Given the description of an element on the screen output the (x, y) to click on. 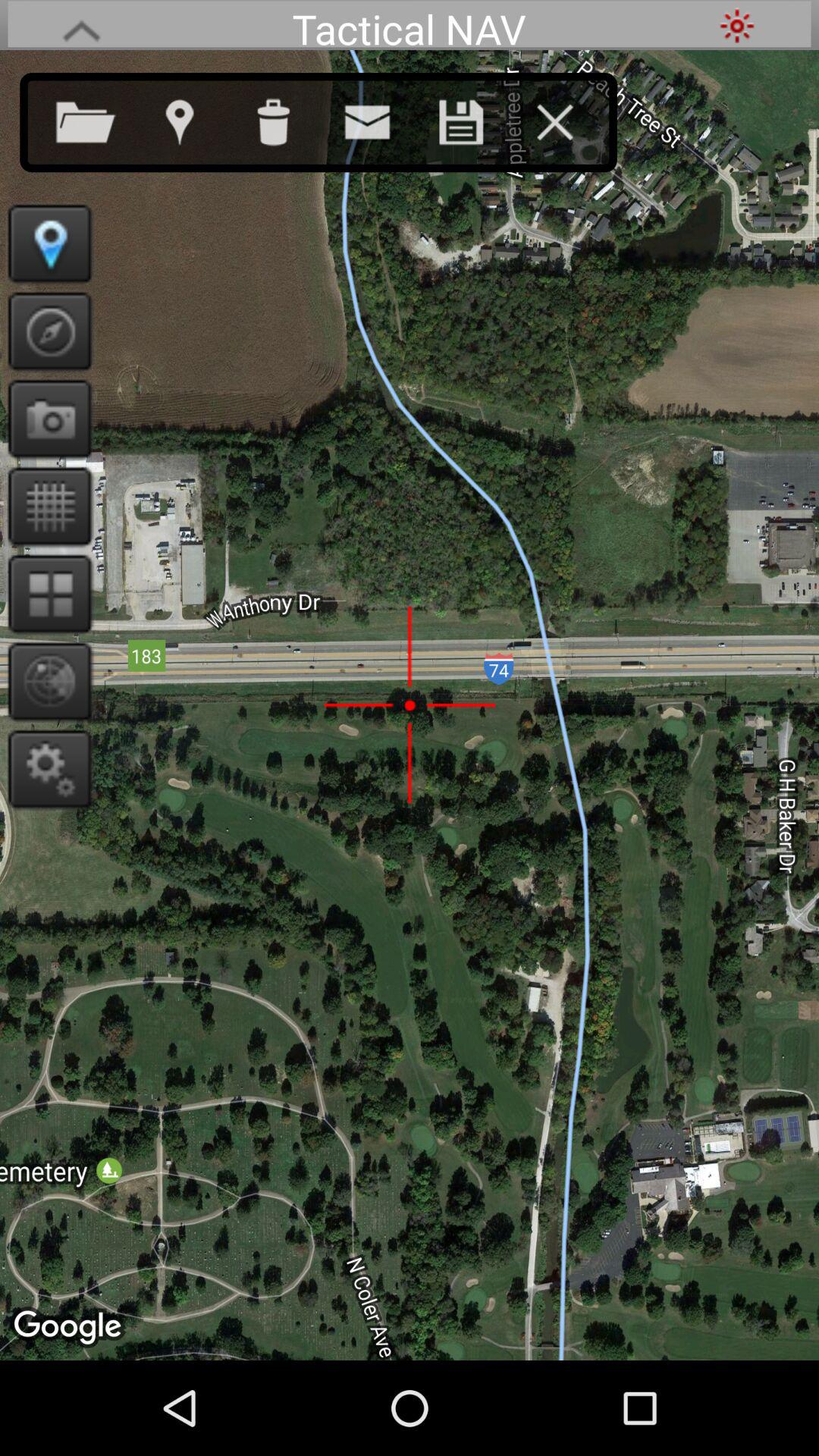
take a picture (45, 418)
